Given the description of an element on the screen output the (x, y) to click on. 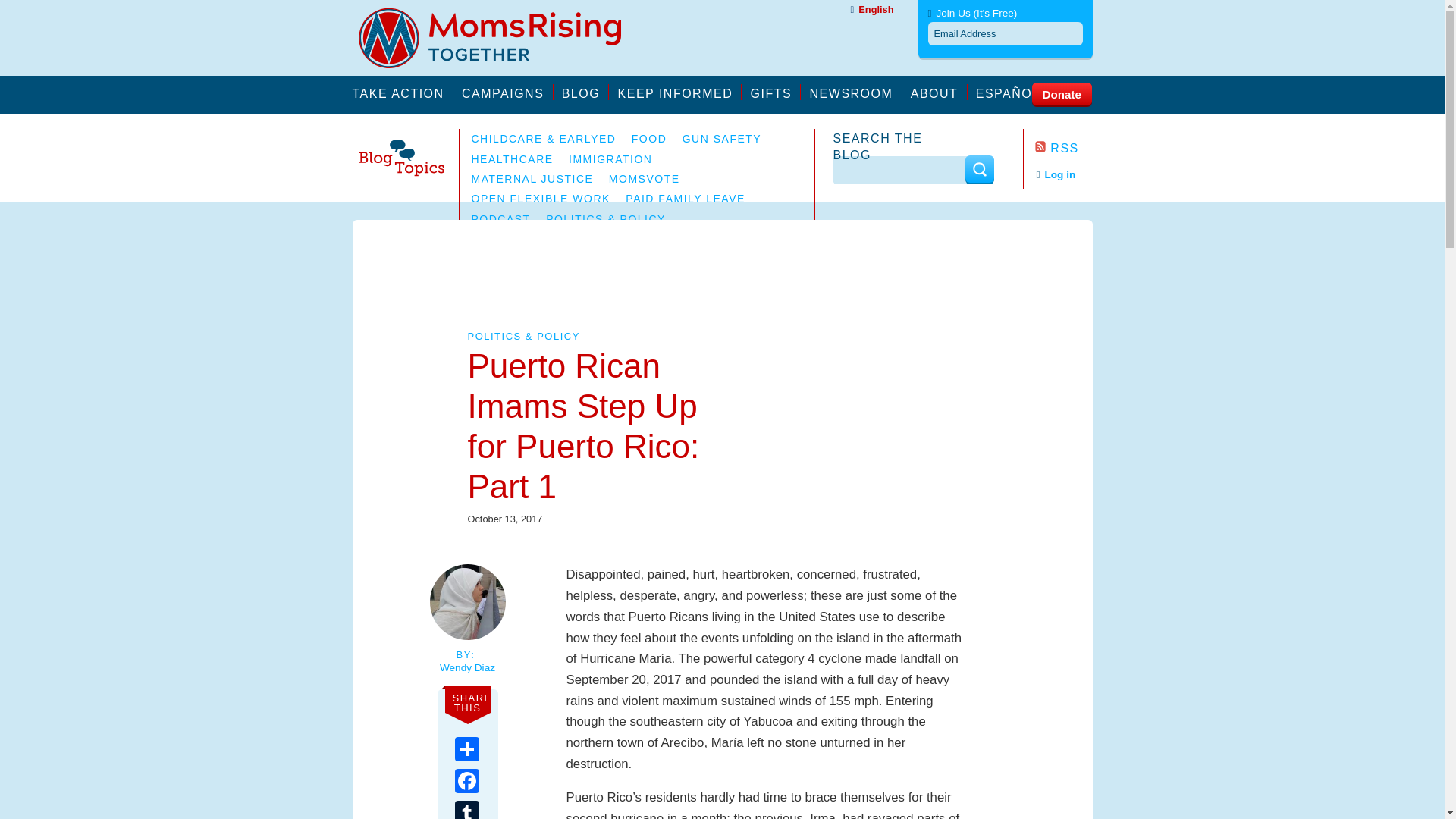
Join our mailing list for updates (679, 91)
NEWSROOM (855, 91)
Skip to main content (55, 8)
TAKE ACTION (402, 91)
Log in (1055, 174)
CAMPAIGNS (507, 91)
Learn more about our work and get involved (507, 91)
PODCAST (501, 218)
MomsRising.org (499, 38)
Search (978, 169)
Sign up (1005, 188)
Email Address (1005, 33)
Wendy Diaz (466, 667)
MOMSVOTE (643, 178)
HEALTHCARE (512, 159)
